Given the description of an element on the screen output the (x, y) to click on. 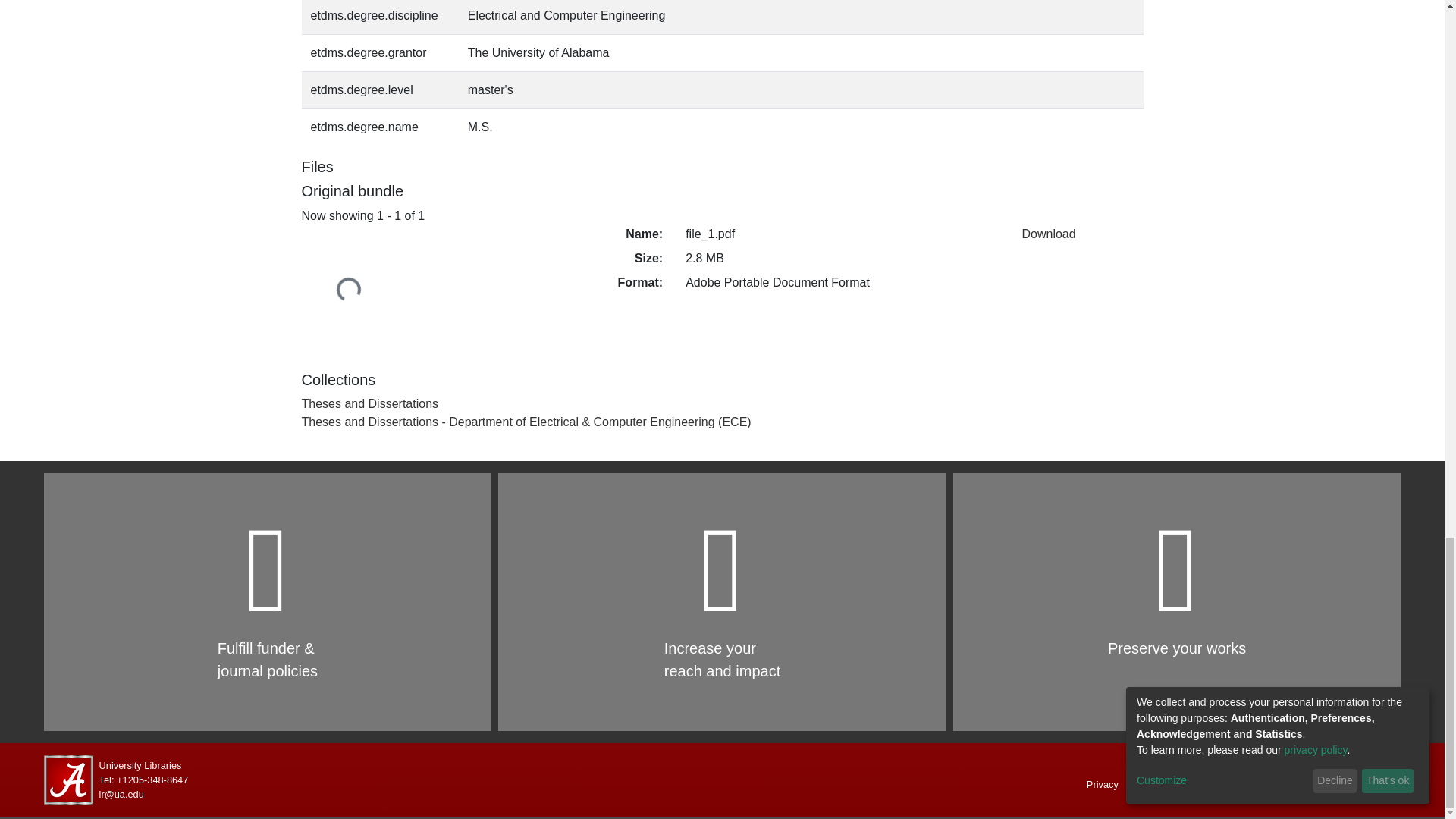
Theses and Dissertations (370, 403)
University Libraries (140, 765)
Accessibility (1254, 784)
Accessibility (1254, 784)
Disclaimer (1174, 784)
Disclaimer (1174, 784)
Copyright (1351, 784)
Privacy (1102, 784)
Download (1048, 233)
Privacy (1102, 784)
